Given the description of an element on the screen output the (x, y) to click on. 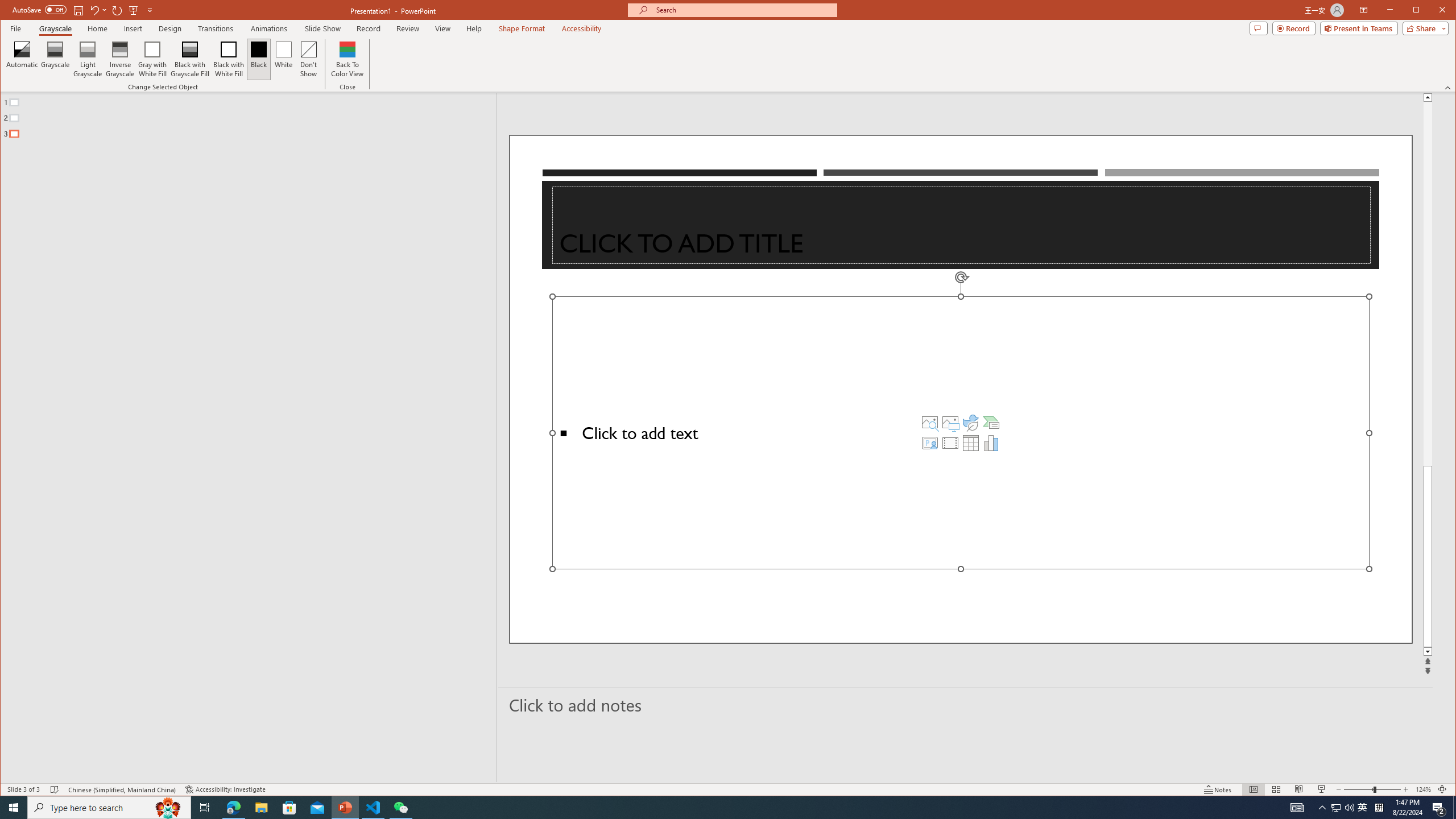
Class: MsoCommandBar (728, 789)
File Explorer (261, 807)
Zoom 124% (1422, 789)
Insert a SmartArt Graphic (991, 422)
Reading View (1298, 789)
Normal (1253, 789)
From Beginning (133, 9)
File Tab (15, 27)
Task View (204, 807)
AutomationID: 4105 (1297, 807)
Customize Quick Access Toolbar (150, 9)
Insert Chart (991, 443)
Line up (1427, 96)
Back To Color View (347, 59)
